Given the description of an element on the screen output the (x, y) to click on. 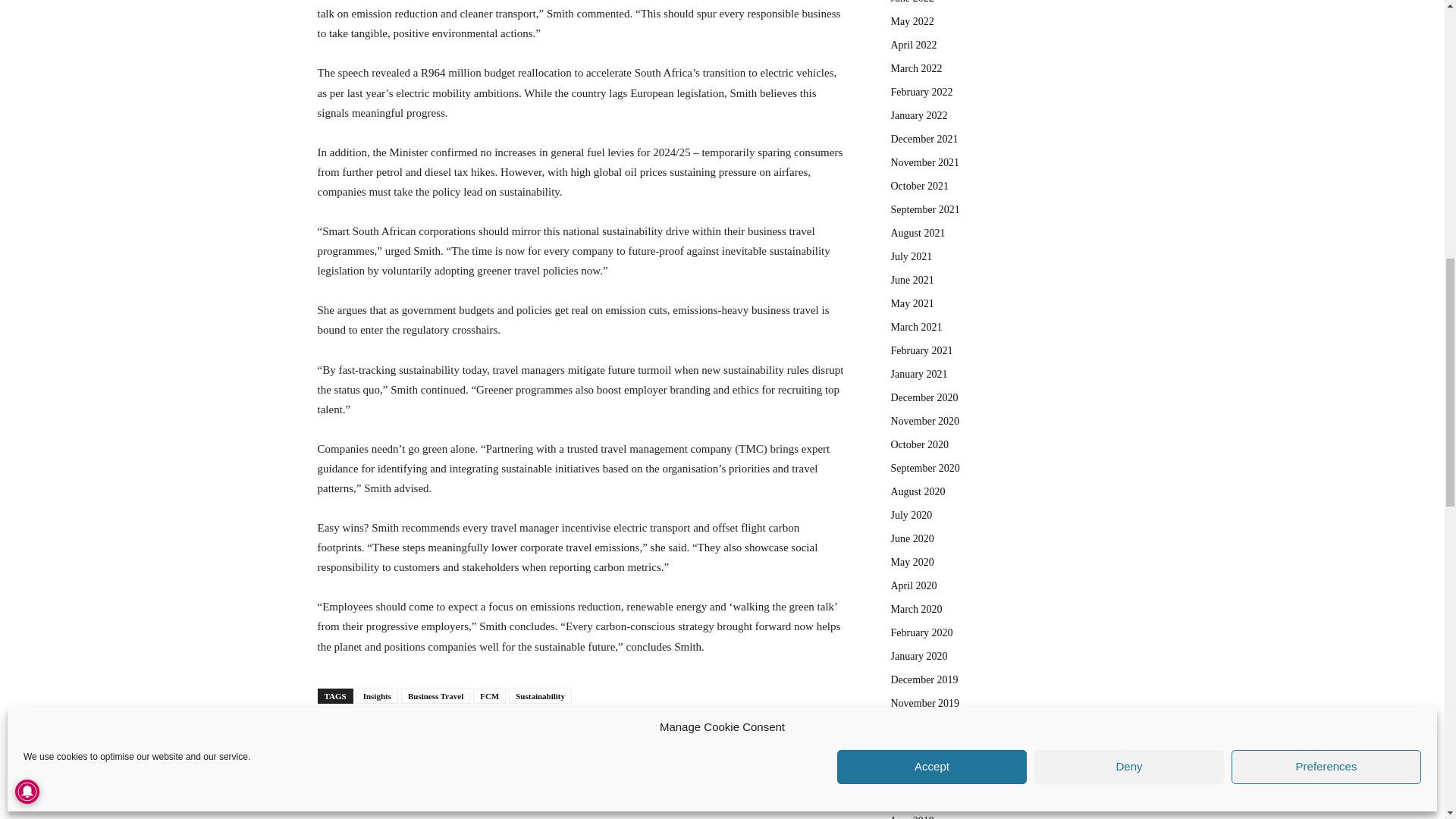
Accept (931, 357)
Deny (1128, 357)
Preferences (1326, 357)
